Given the description of an element on the screen output the (x, y) to click on. 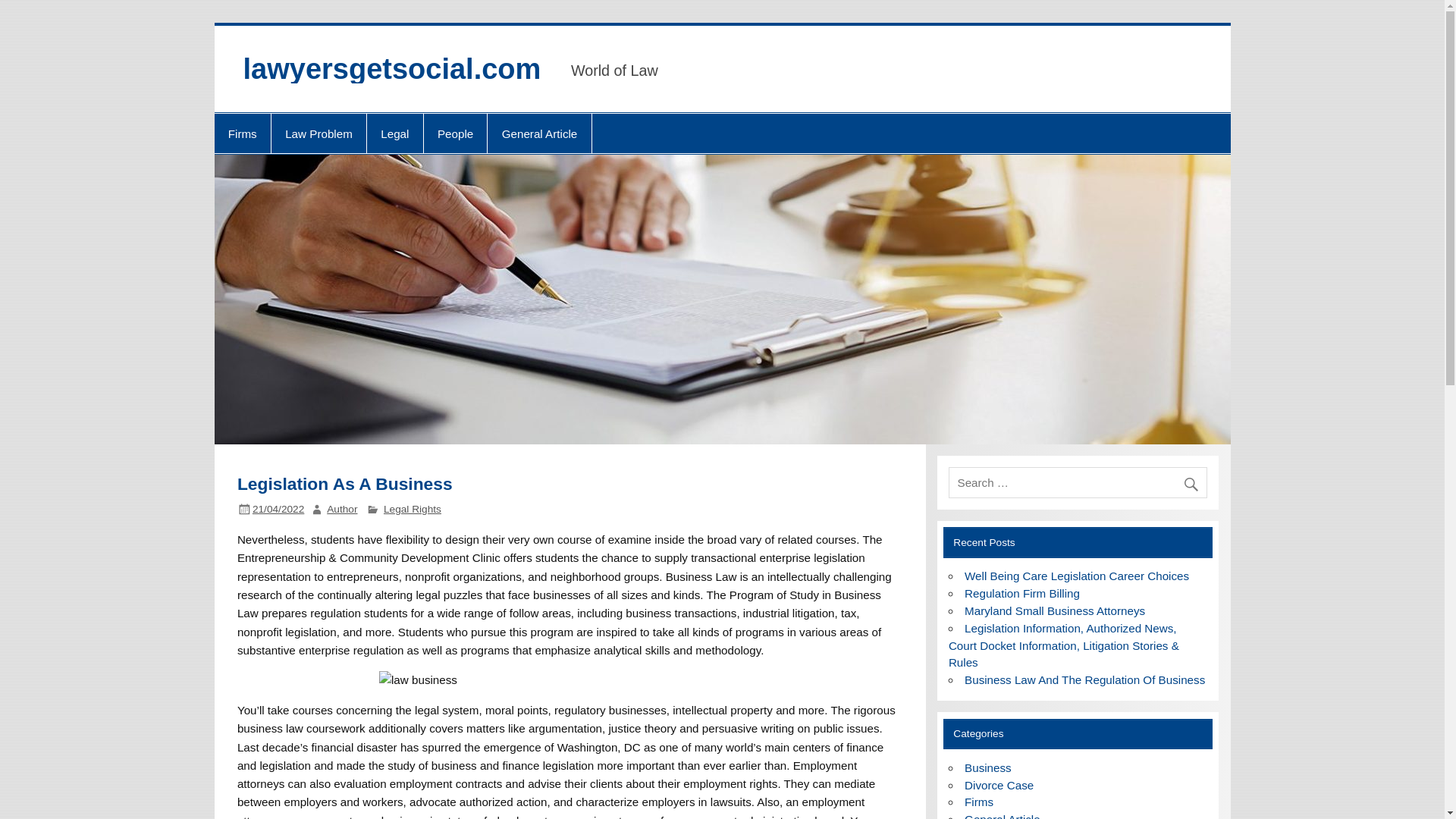
Firms (241, 133)
20:45 (277, 509)
View all posts by Author (341, 509)
Well Being Care Legislation Career Choices (1076, 575)
lawyersgetsocial.com (391, 69)
Business Law And The Regulation Of Business (1084, 679)
Maryland Small Business Attorneys (1053, 610)
Law Problem (318, 133)
Legal (394, 133)
General Article (539, 133)
